Given the description of an element on the screen output the (x, y) to click on. 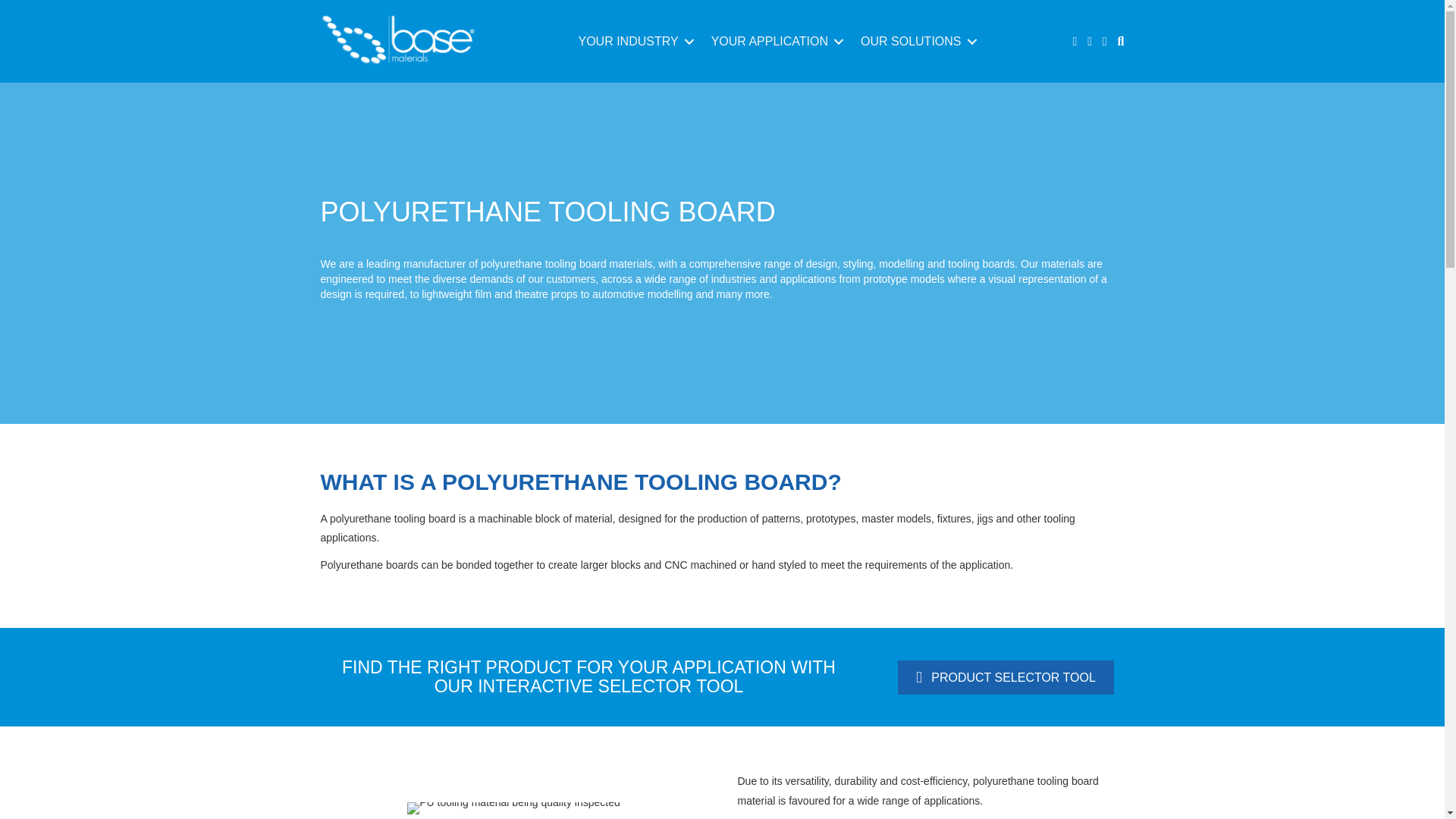
Base-Materials-logo-white-RGB (395, 41)
YOUR INDUSTRY (632, 41)
YOUR APPLICATION (774, 41)
OUR SOLUTIONS (915, 41)
